Given the description of an element on the screen output the (x, y) to click on. 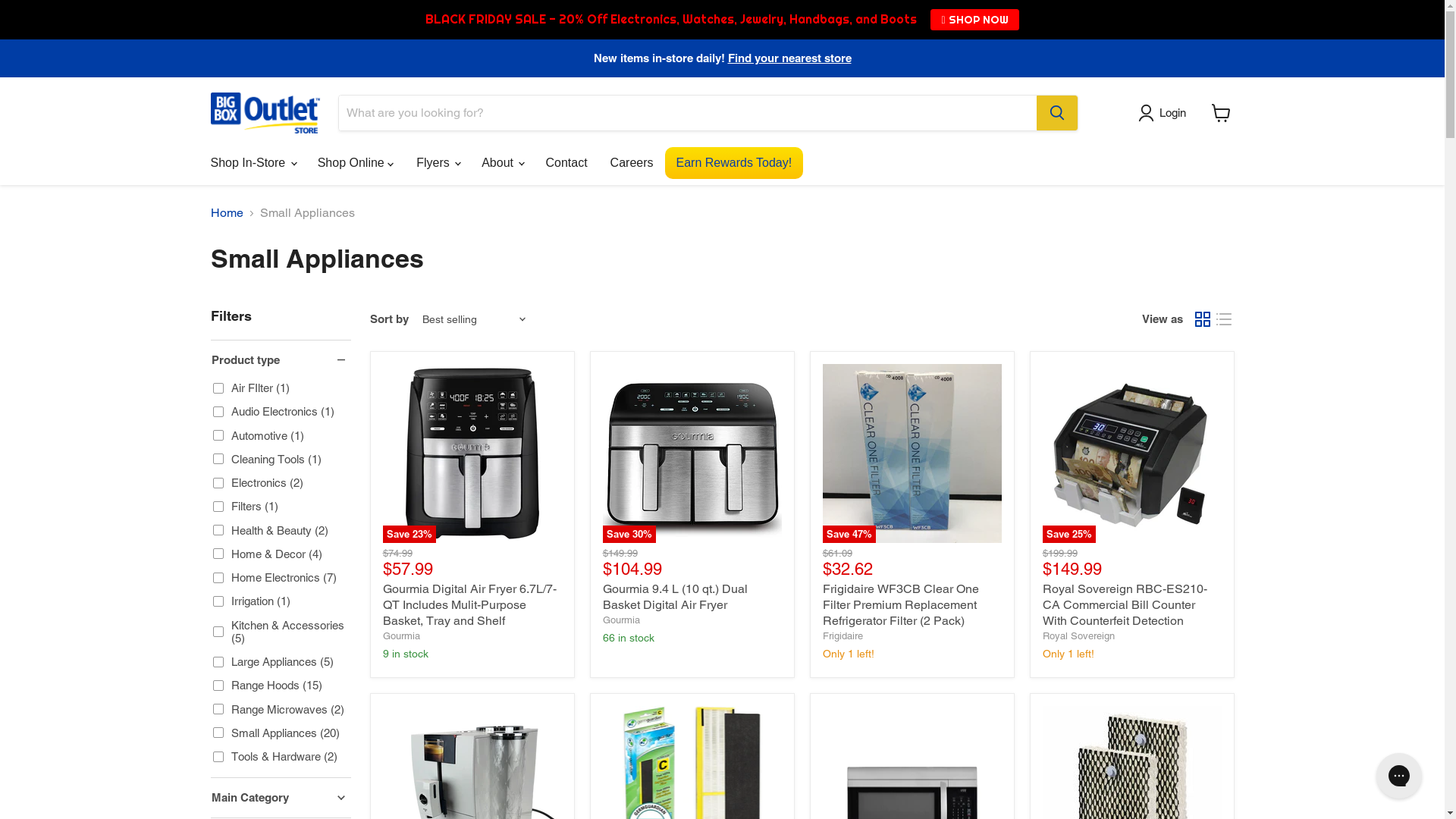
Save 30% Element type: text (691, 453)
Main Category Element type: text (280, 797)
Save 23% Element type: text (471, 453)
Save 25% Element type: text (1130, 453)
Gourmia Element type: text (620, 619)
Find your nearest store Element type: text (789, 57)
Health & Beauty (2) Element type: text (270, 530)
Small Appliances (20) Element type: text (276, 732)
Frigidaire Element type: text (842, 635)
Product type Element type: text (280, 359)
Login Element type: text (1165, 112)
Filters (1) Element type: text (245, 505)
Gourmia Element type: text (400, 635)
Large Appliances (5) Element type: text (272, 661)
Range Hoods (15) Element type: text (267, 684)
Royal Sovereign Element type: text (1077, 635)
Careers Element type: text (632, 162)
Air FIlter (1) Element type: text (250, 387)
Gourmia 9.4 L (10 qt.) Dual Basket Digital Air Fryer Element type: text (674, 596)
Cleaning Tools (1) Element type: text (266, 458)
Contact Element type: text (565, 162)
Save 47% Element type: text (911, 453)
Range Microwaves (2) Element type: text (278, 709)
Electronics (2) Element type: text (257, 482)
Kitchen & Accessories (5) Element type: text (280, 630)
Tools & Hardware (2) Element type: text (274, 756)
Earn Rewards Today! Element type: text (733, 162)
Irrigation (1) Element type: text (251, 600)
Home & Decor (4) Element type: text (267, 553)
Gorgias live chat messenger Element type: hover (1398, 775)
Automotive (1) Element type: text (258, 434)
View cart Element type: text (1221, 112)
Audio Electronics (1) Element type: text (273, 411)
Home Element type: text (226, 212)
Home Electronics (7) Element type: text (274, 577)
